Given the description of an element on the screen output the (x, y) to click on. 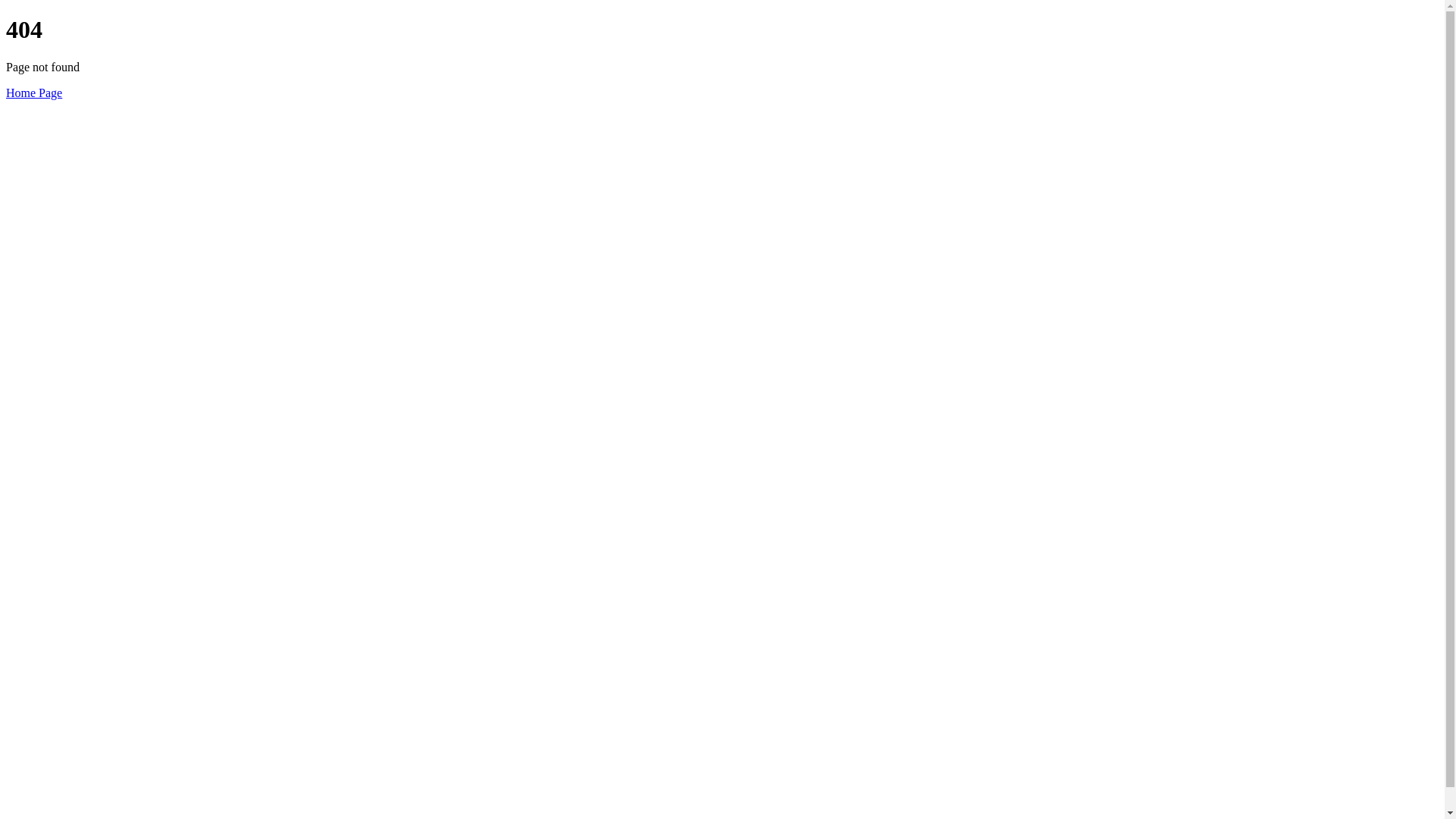
Home Page Element type: text (34, 92)
